Given the description of an element on the screen output the (x, y) to click on. 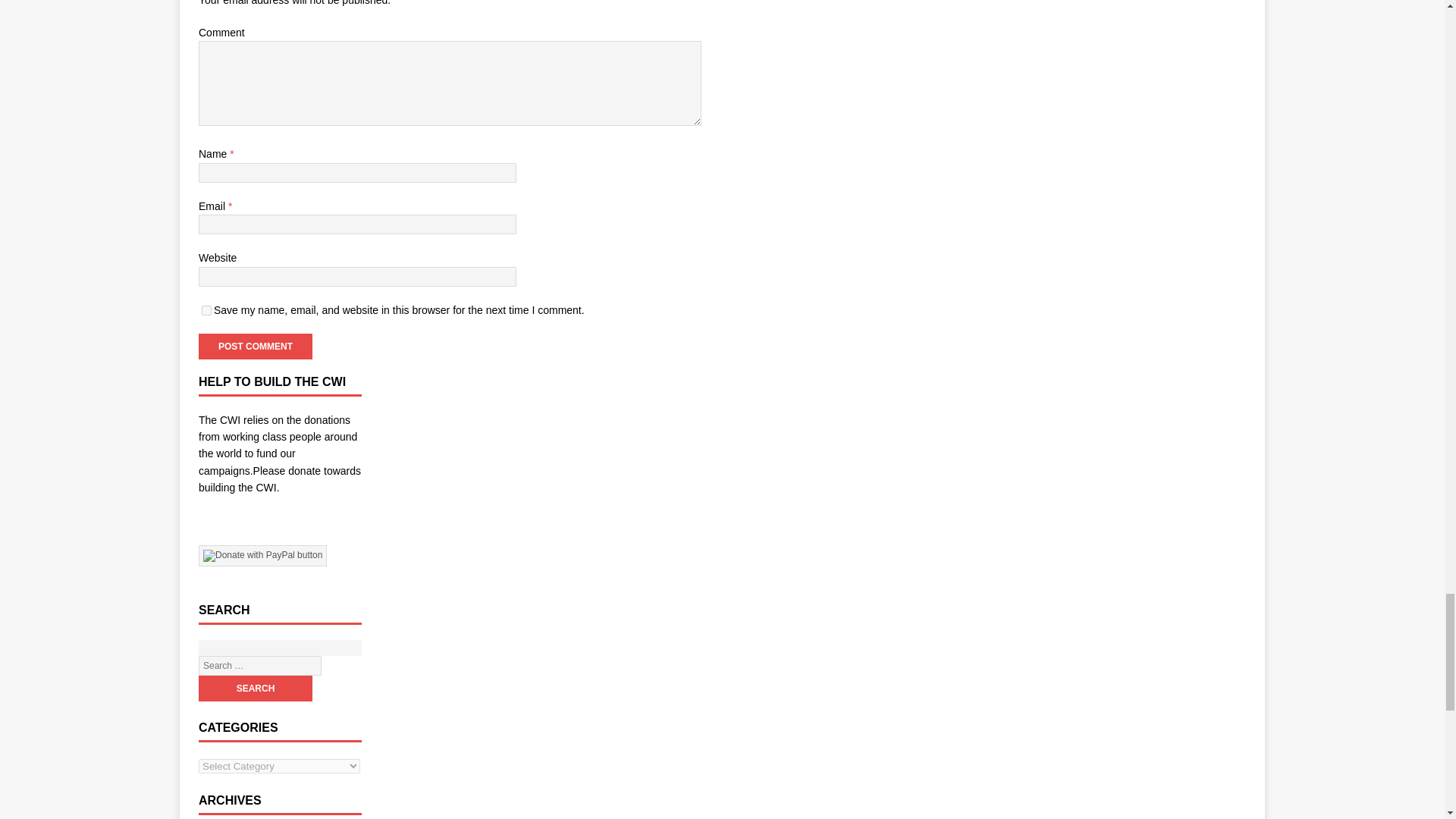
Search (255, 688)
Post Comment (255, 346)
yes (206, 310)
Search (255, 688)
